Given the description of an element on the screen output the (x, y) to click on. 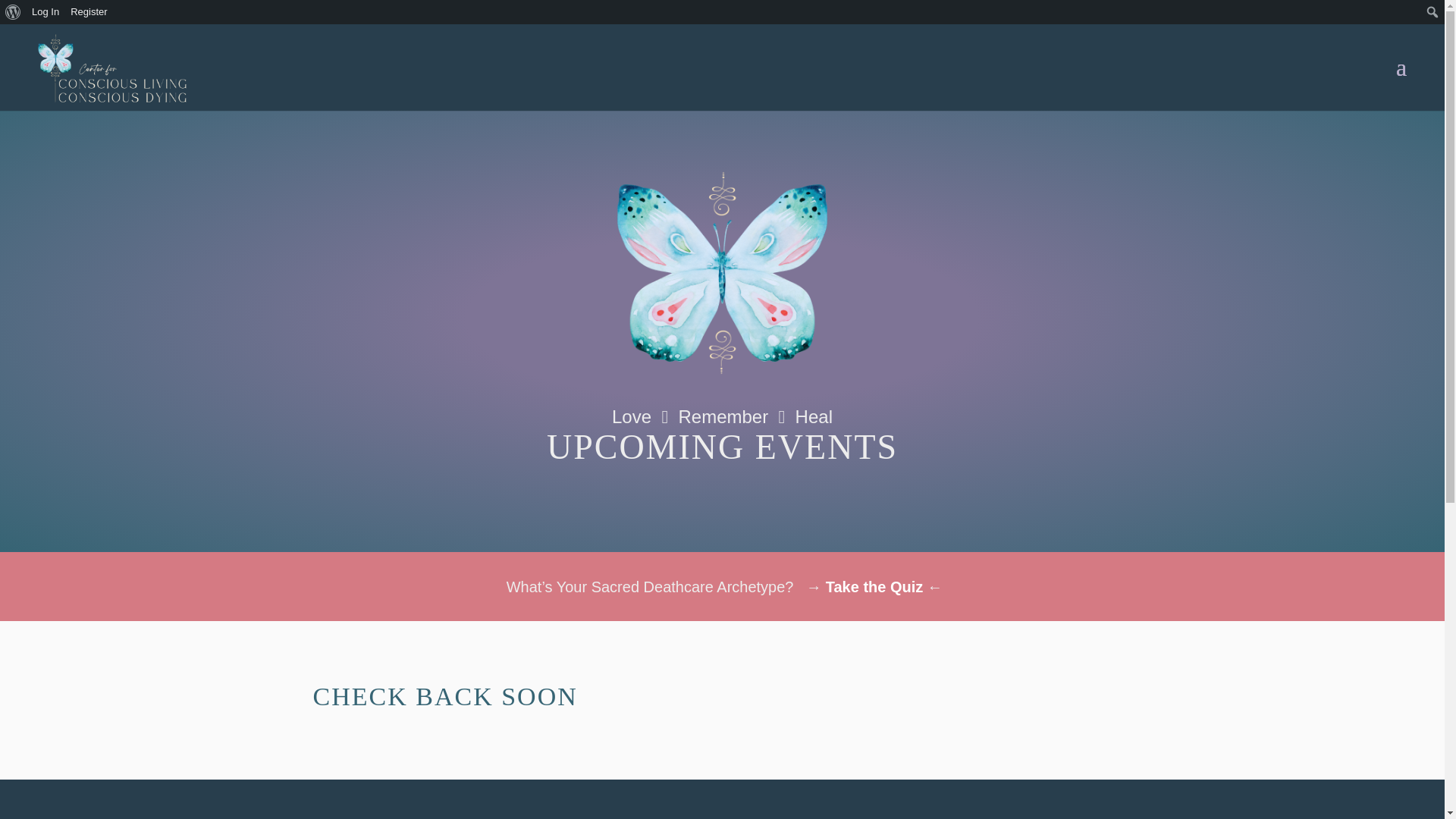
Take the Quiz (874, 586)
Search (16, 13)
Log In (45, 12)
Center for Conscious Living Conscious Dying Collective (721, 273)
Register (89, 12)
